Given the description of an element on the screen output the (x, y) to click on. 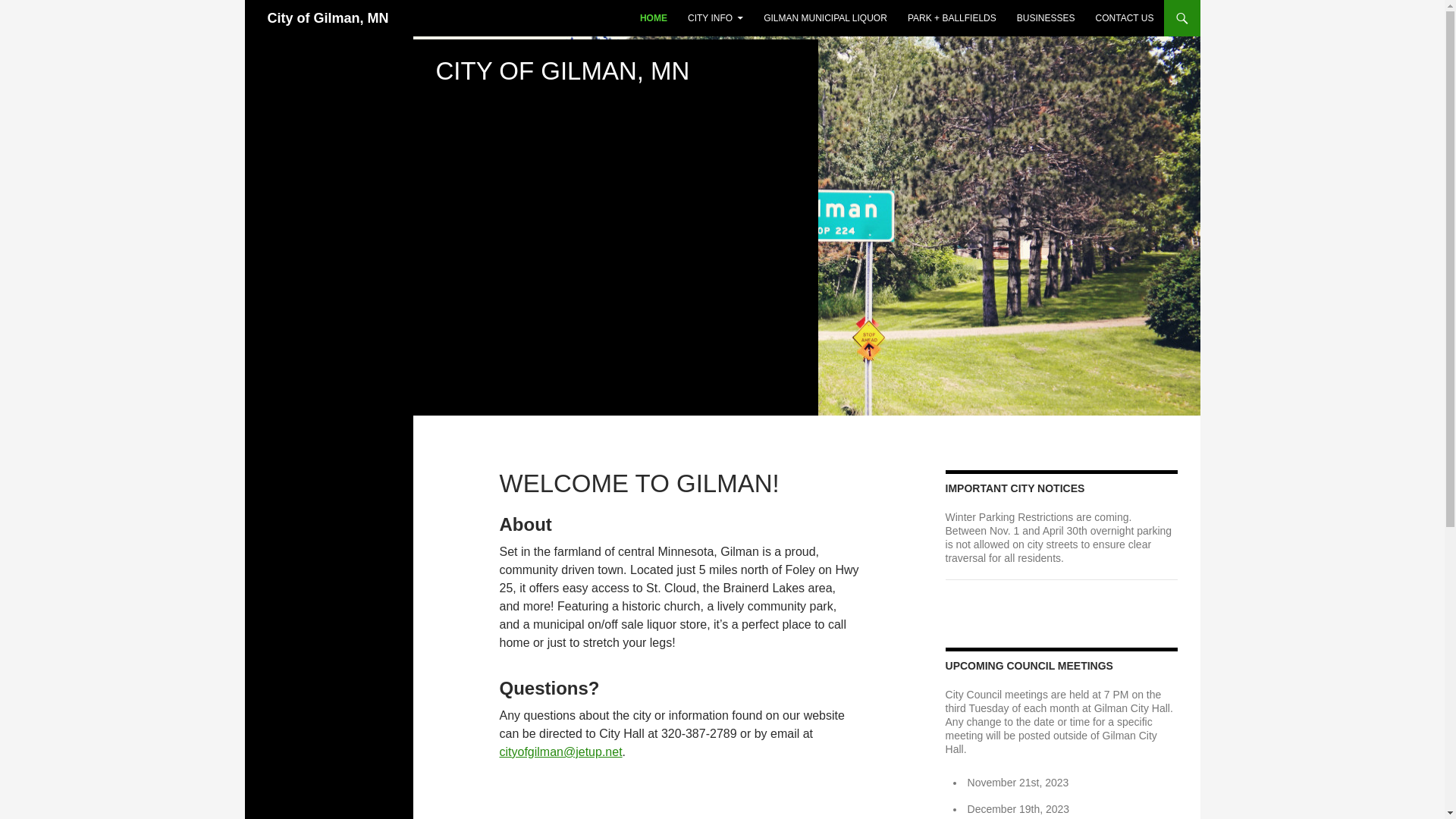
City of Gilman, MN (327, 18)
HOME (653, 18)
CONTACT US (1124, 18)
CITY INFO (715, 18)
BUSINESSES (1045, 18)
CITY OF GILMAN, MN (561, 70)
GILMAN MUNICIPAL LIQUOR (825, 18)
